Given the description of an element on the screen output the (x, y) to click on. 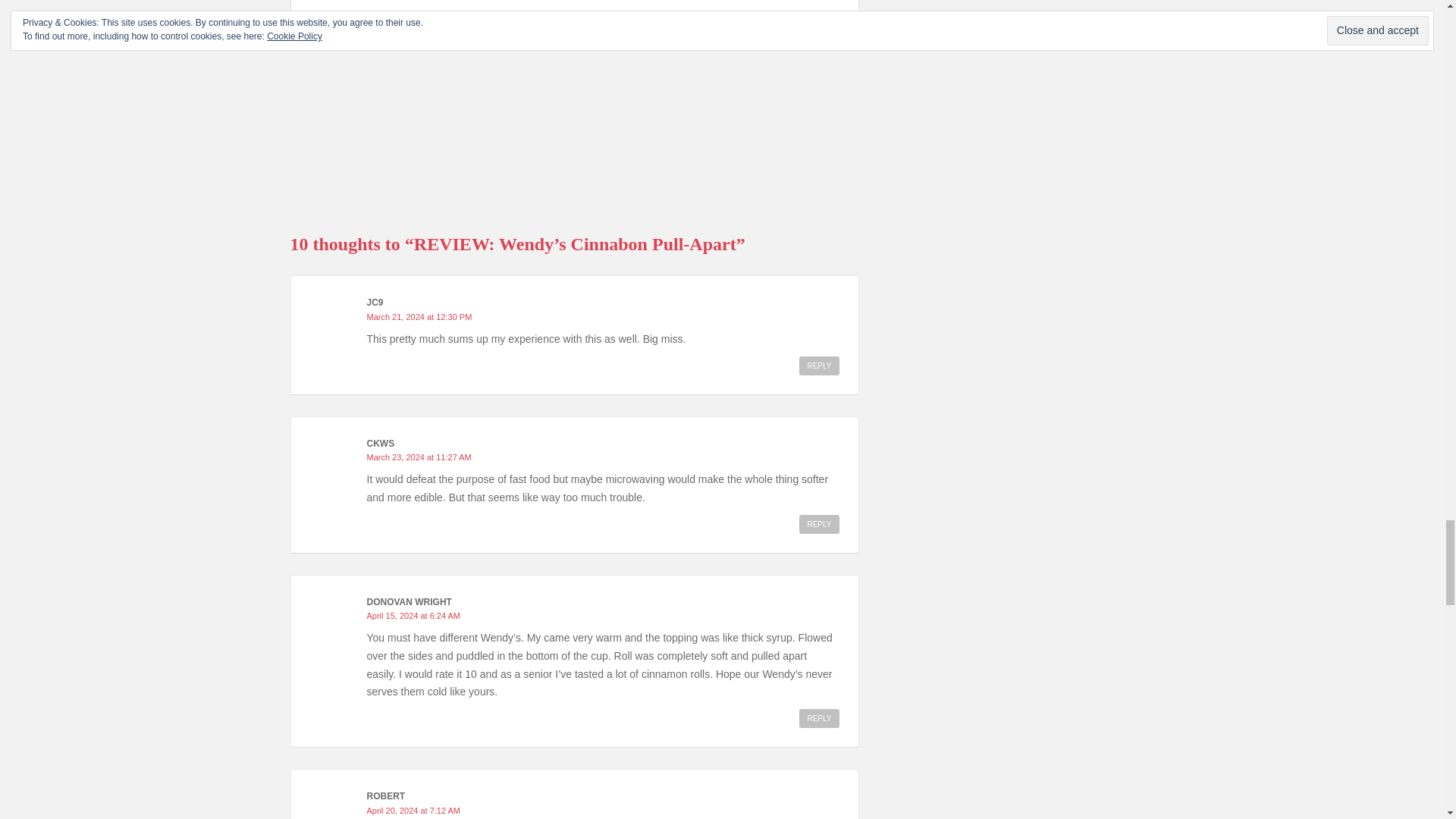
March 21, 2024 at 12:30 PM (418, 316)
REPLY (818, 718)
April 15, 2024 at 6:24 AM (413, 614)
April 20, 2024 at 7:12 AM (413, 809)
REPLY (818, 524)
March 23, 2024 at 11:27 AM (418, 456)
REPLY (818, 365)
